Given the description of an element on the screen output the (x, y) to click on. 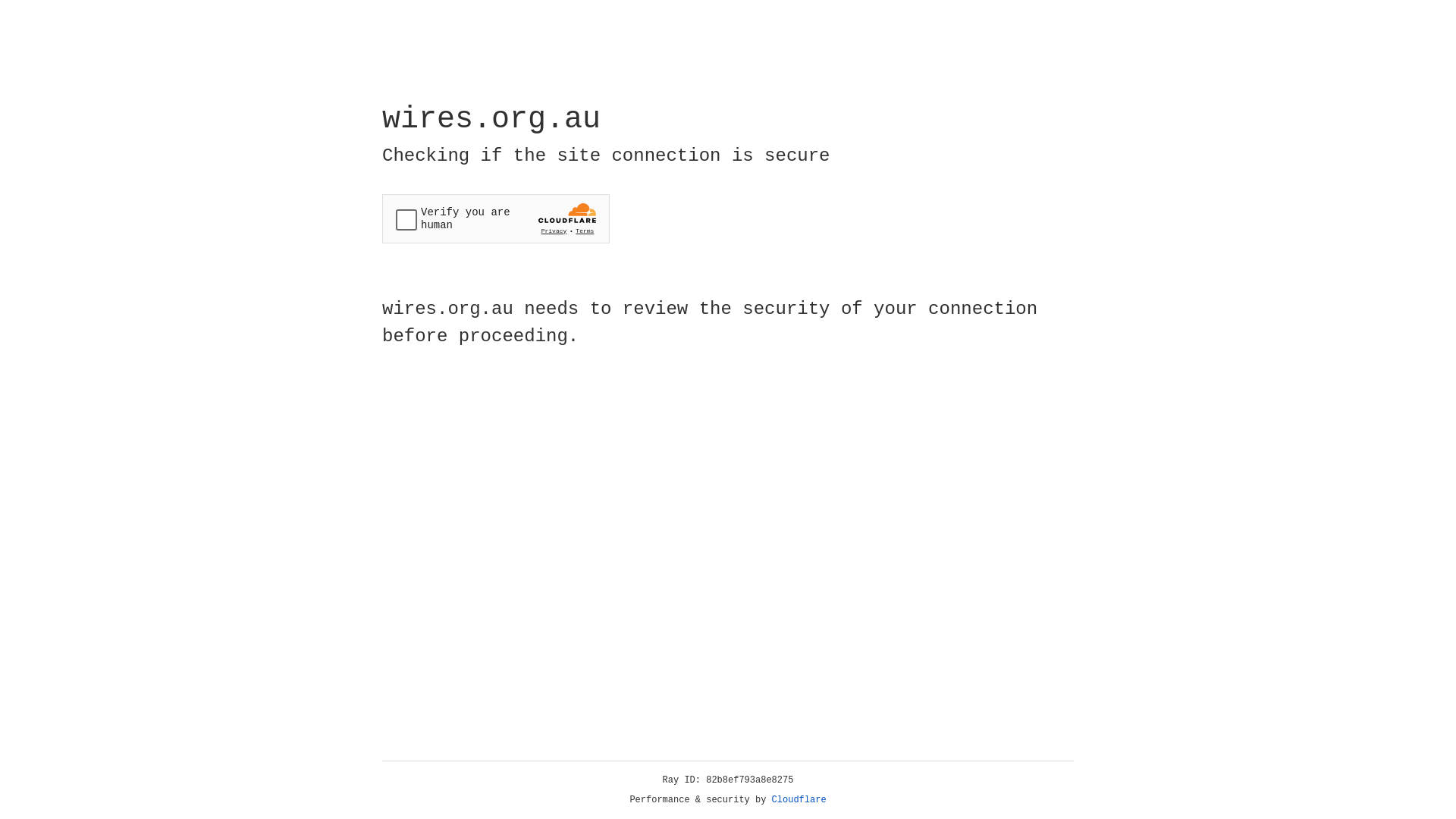
Cloudflare Element type: text (798, 799)
Widget containing a Cloudflare security challenge Element type: hover (495, 218)
